Given the description of an element on the screen output the (x, y) to click on. 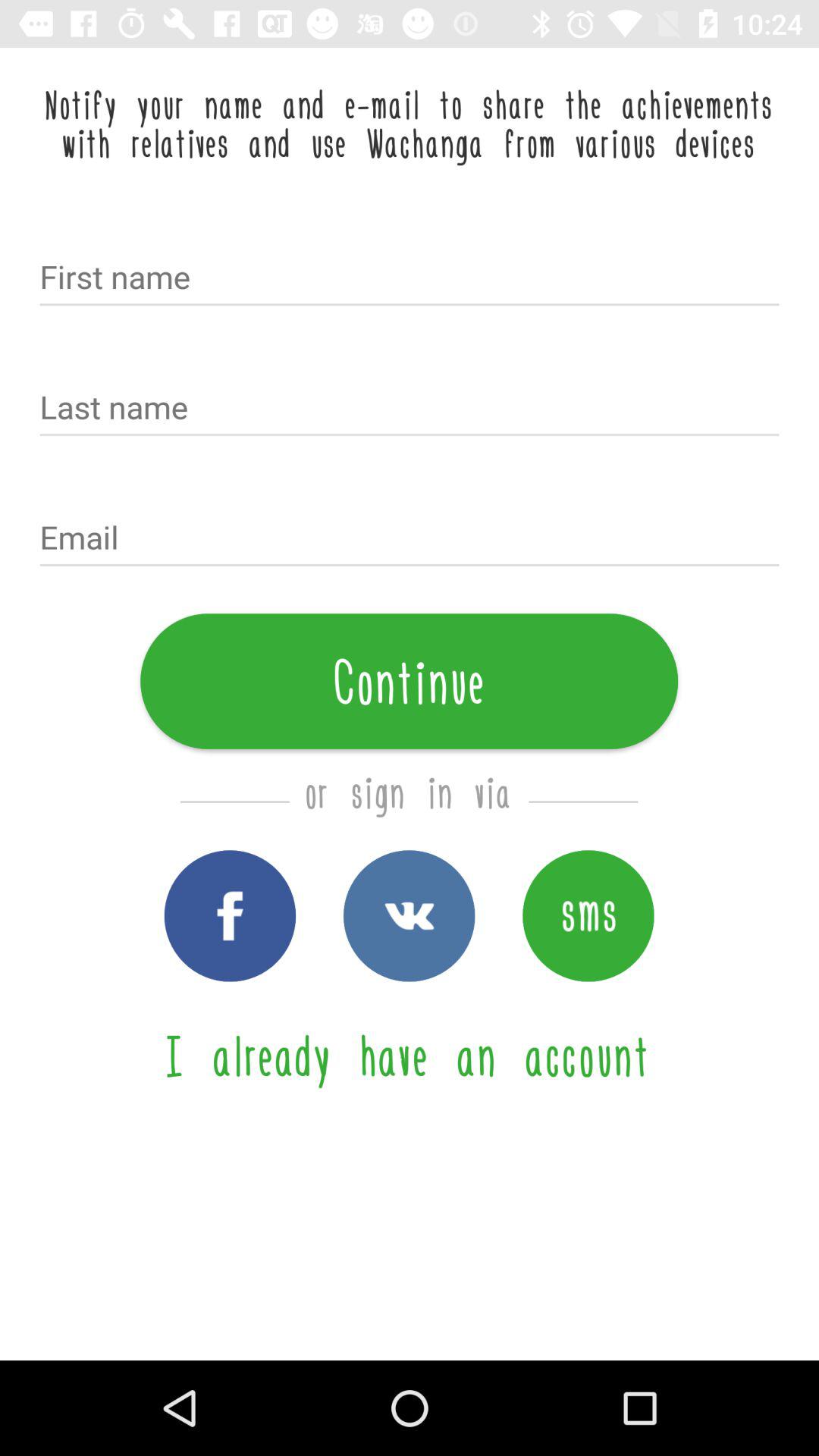
login using vk account (408, 915)
